Given the description of an element on the screen output the (x, y) to click on. 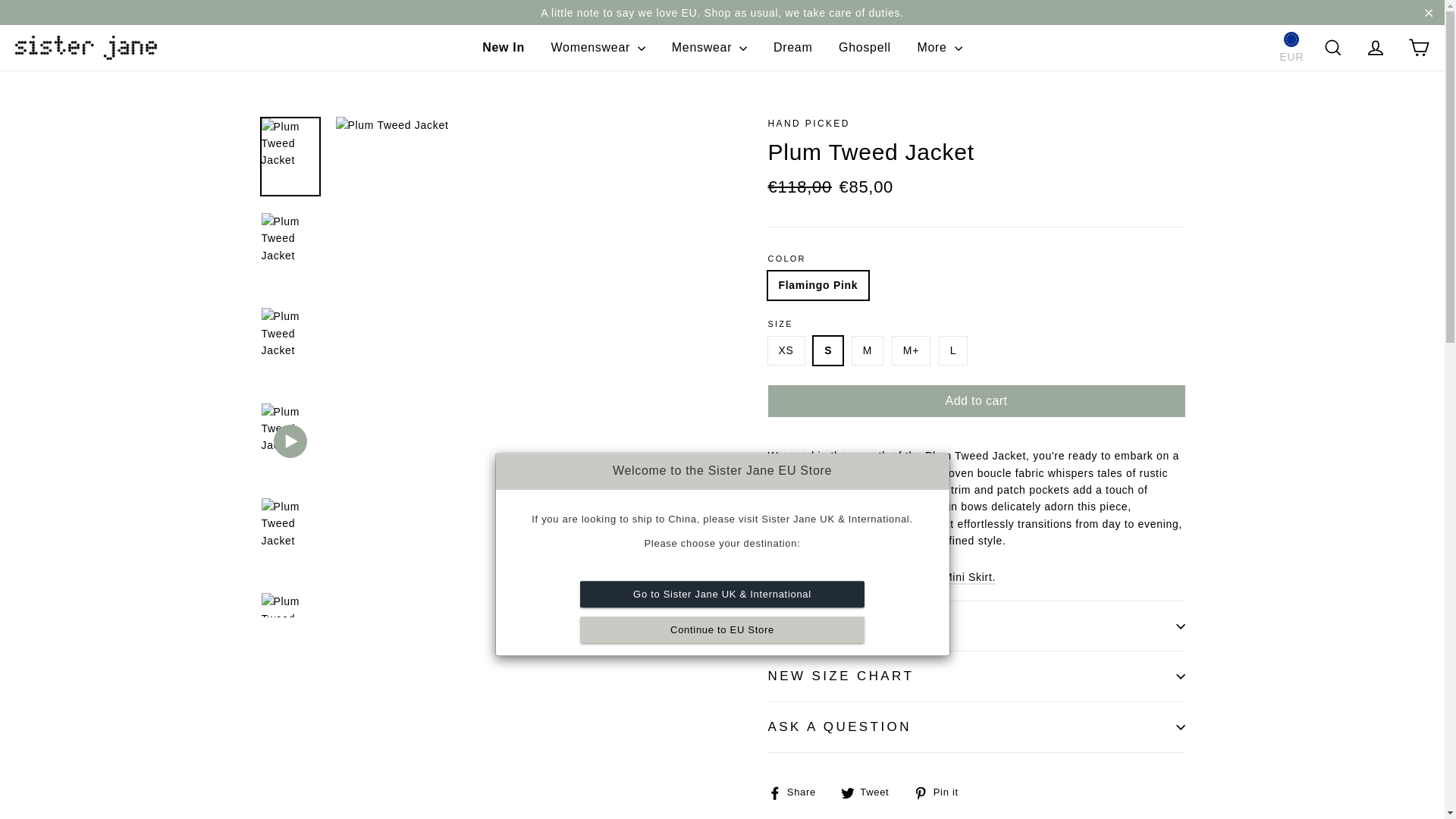
Tweet on Twitter (870, 792)
Pin on Pinterest (941, 792)
Share on Facebook (797, 792)
Womenswear (599, 47)
New In (502, 47)
